Given the description of an element on the screen output the (x, y) to click on. 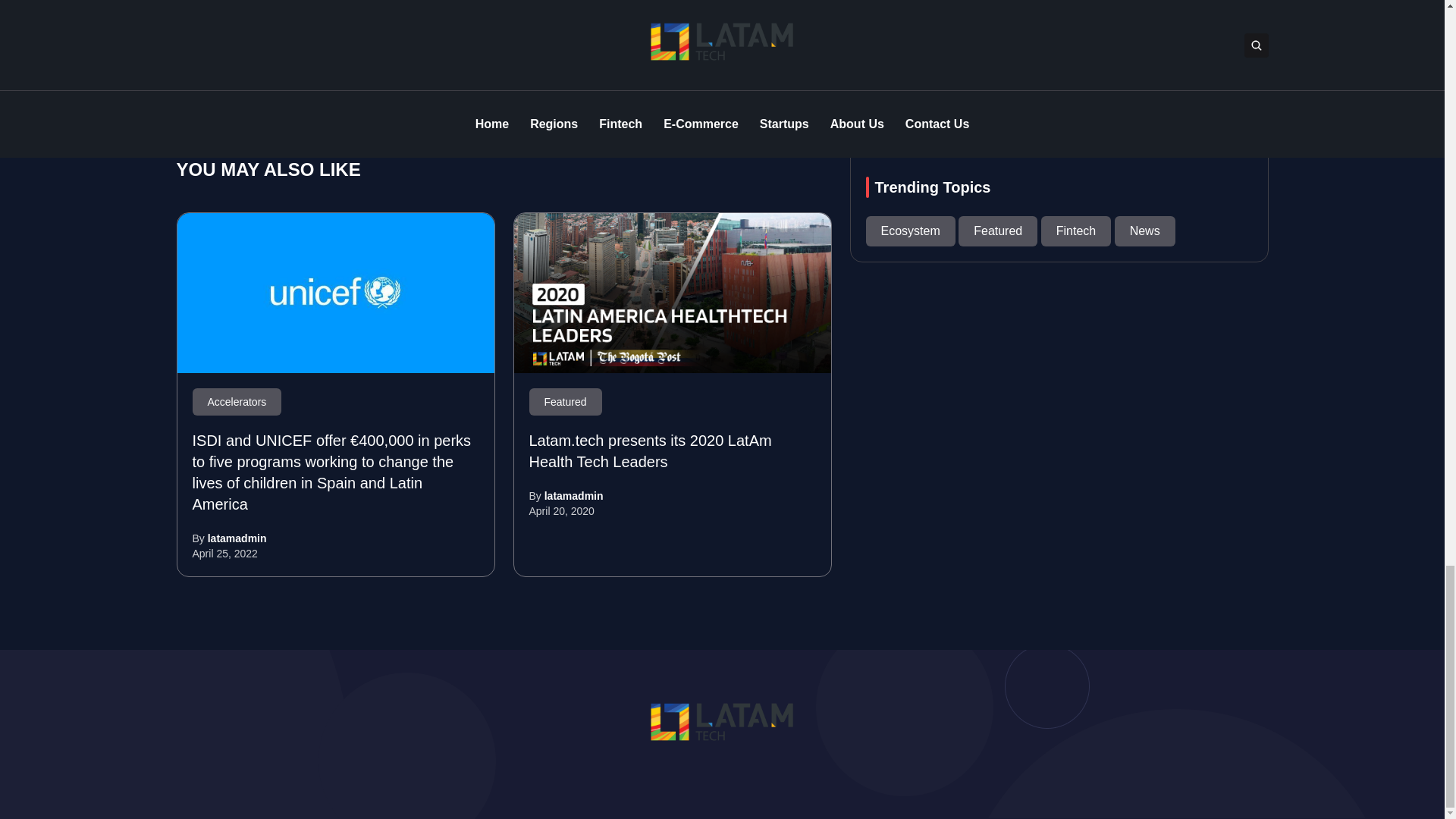
Latam.tech presents its 2020 LatAm Health Tech Leaders (672, 292)
First restaurant in Venezuela accepting bitcoin (681, 83)
